Given the description of an element on the screen output the (x, y) to click on. 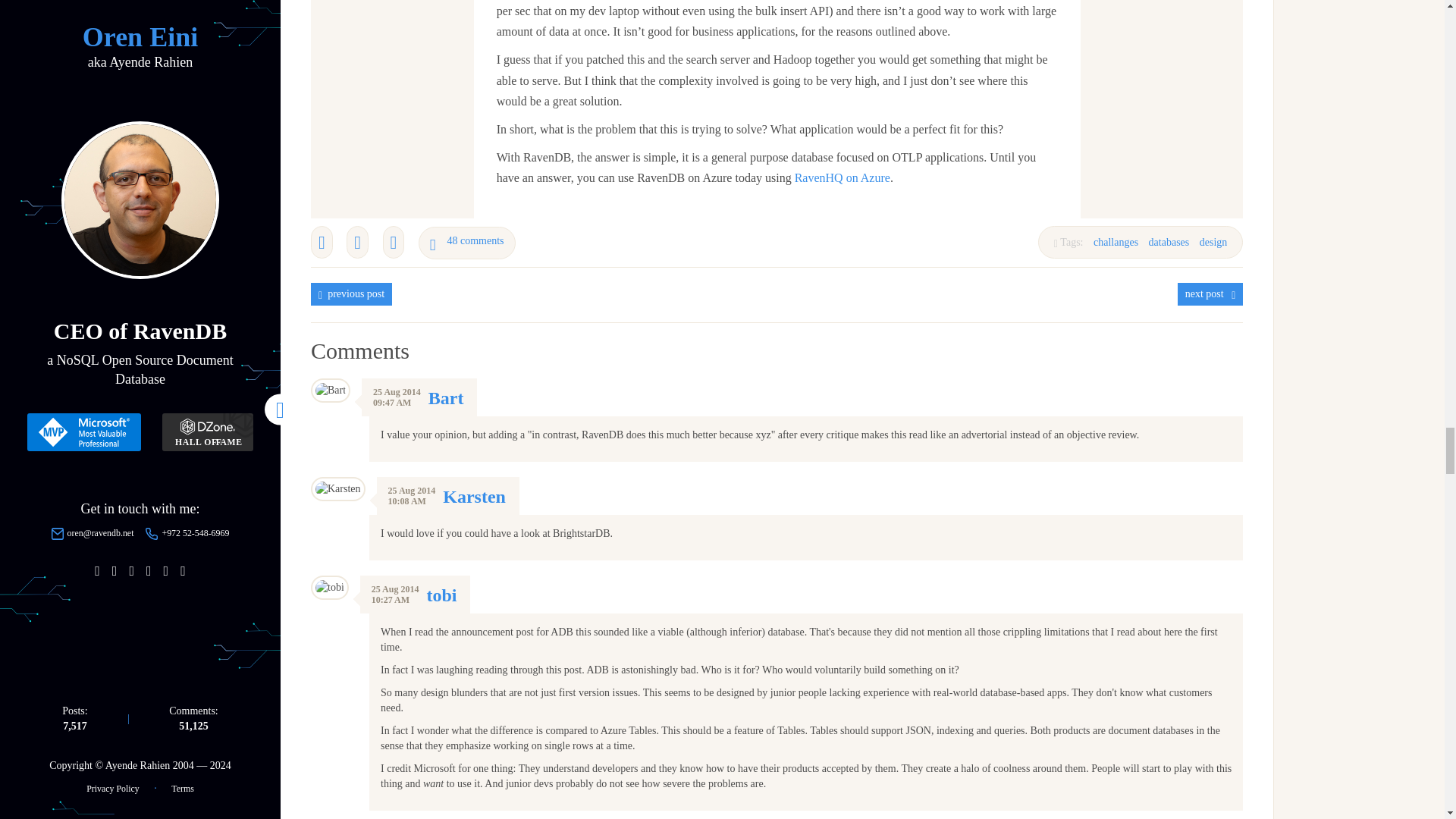
Comment by tobi (441, 595)
Comment by Bart (446, 397)
Comment by Karsten (473, 496)
